Given the description of an element on the screen output the (x, y) to click on. 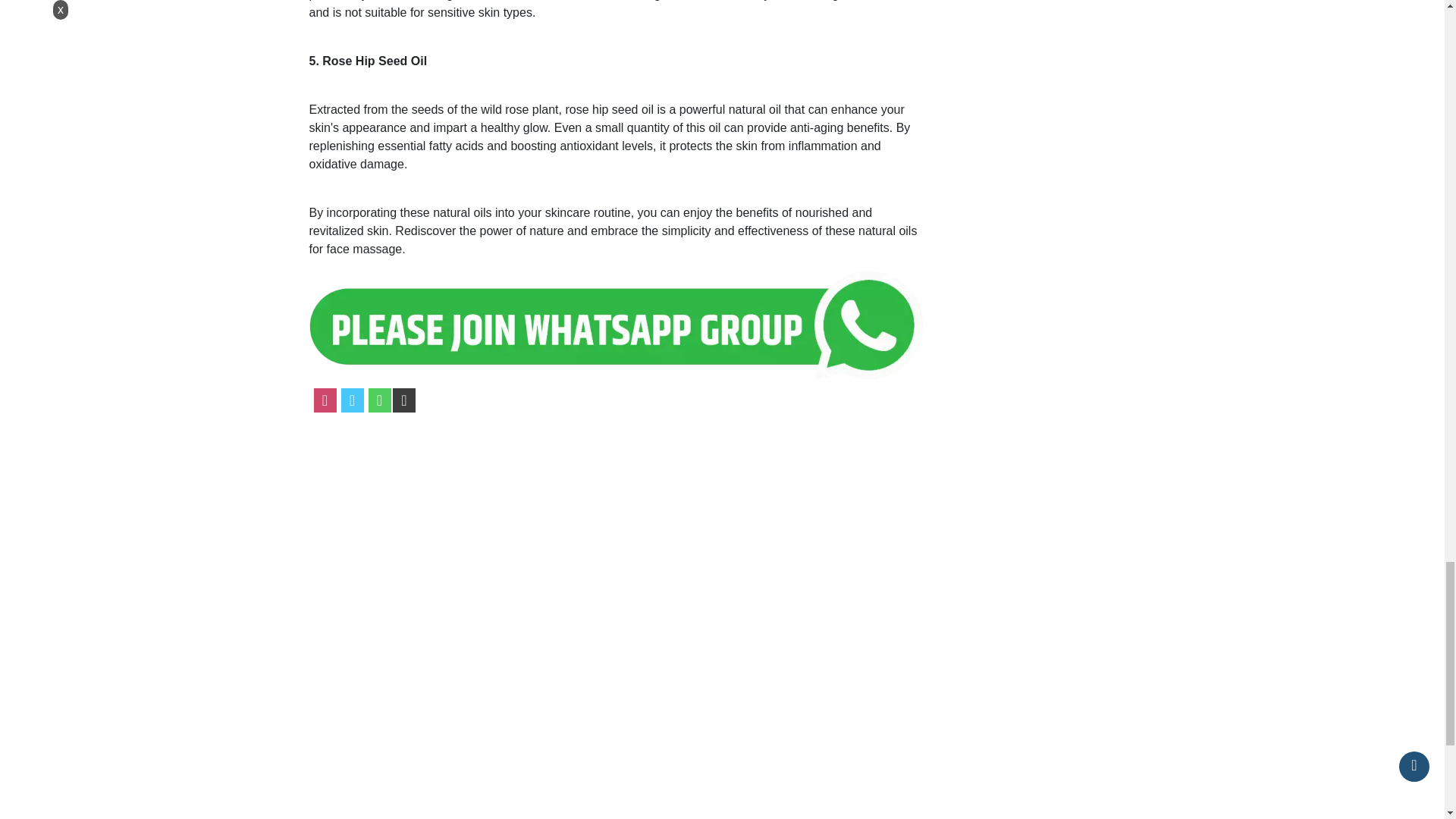
Twitter (352, 400)
WhatsApp (379, 400)
Instagram (325, 400)
Telegram (403, 400)
